Given the description of an element on the screen output the (x, y) to click on. 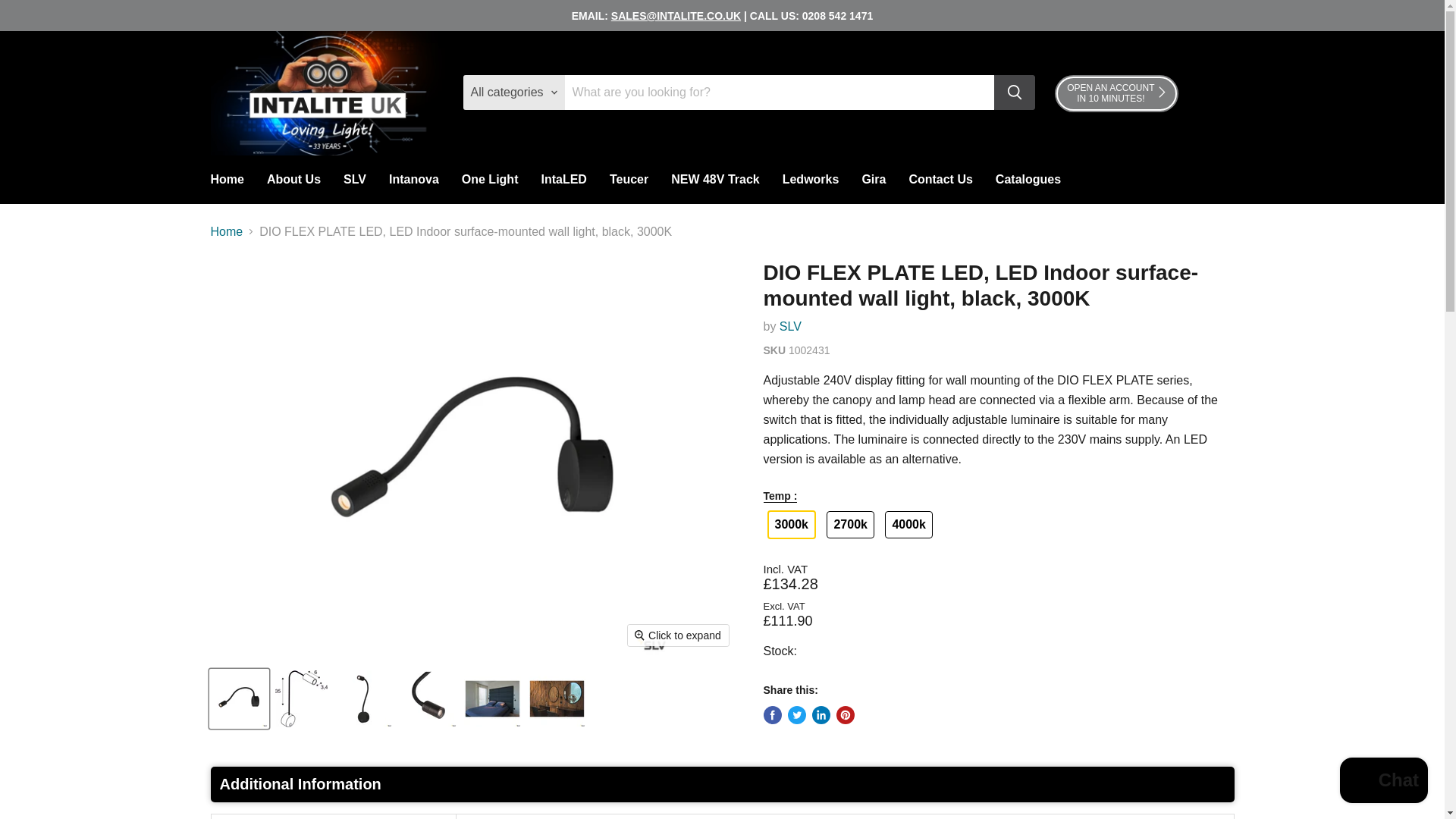
Gira (873, 179)
One Light (489, 179)
SLV (354, 179)
Shopify online store chat (1383, 781)
Contact Us (1115, 94)
Home (940, 179)
NEW 48V Track (226, 179)
Catalogues (715, 179)
About Us (1027, 179)
